Given the description of an element on the screen output the (x, y) to click on. 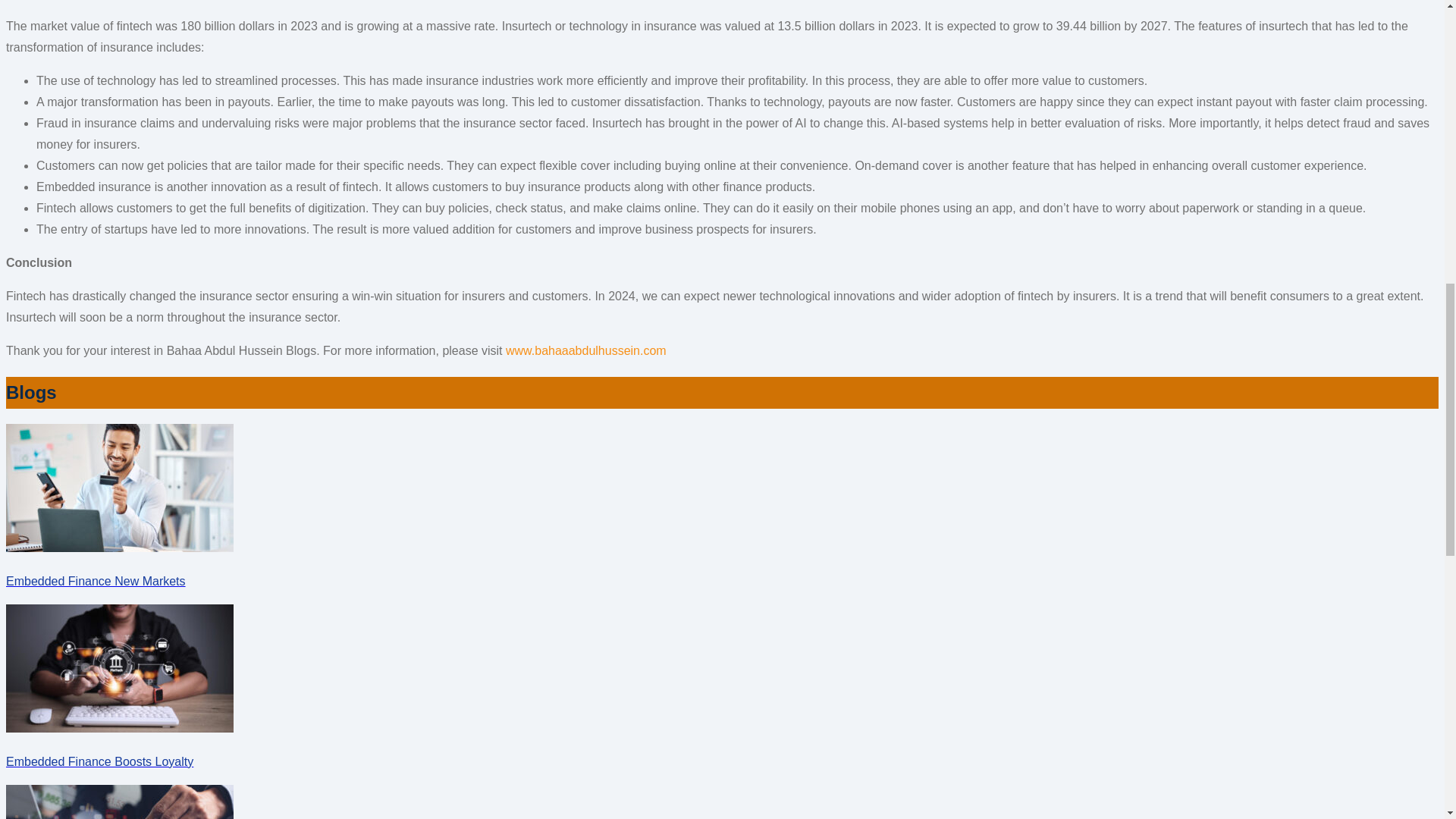
www.bahaaabdulhussein.com (585, 350)
